Given the description of an element on the screen output the (x, y) to click on. 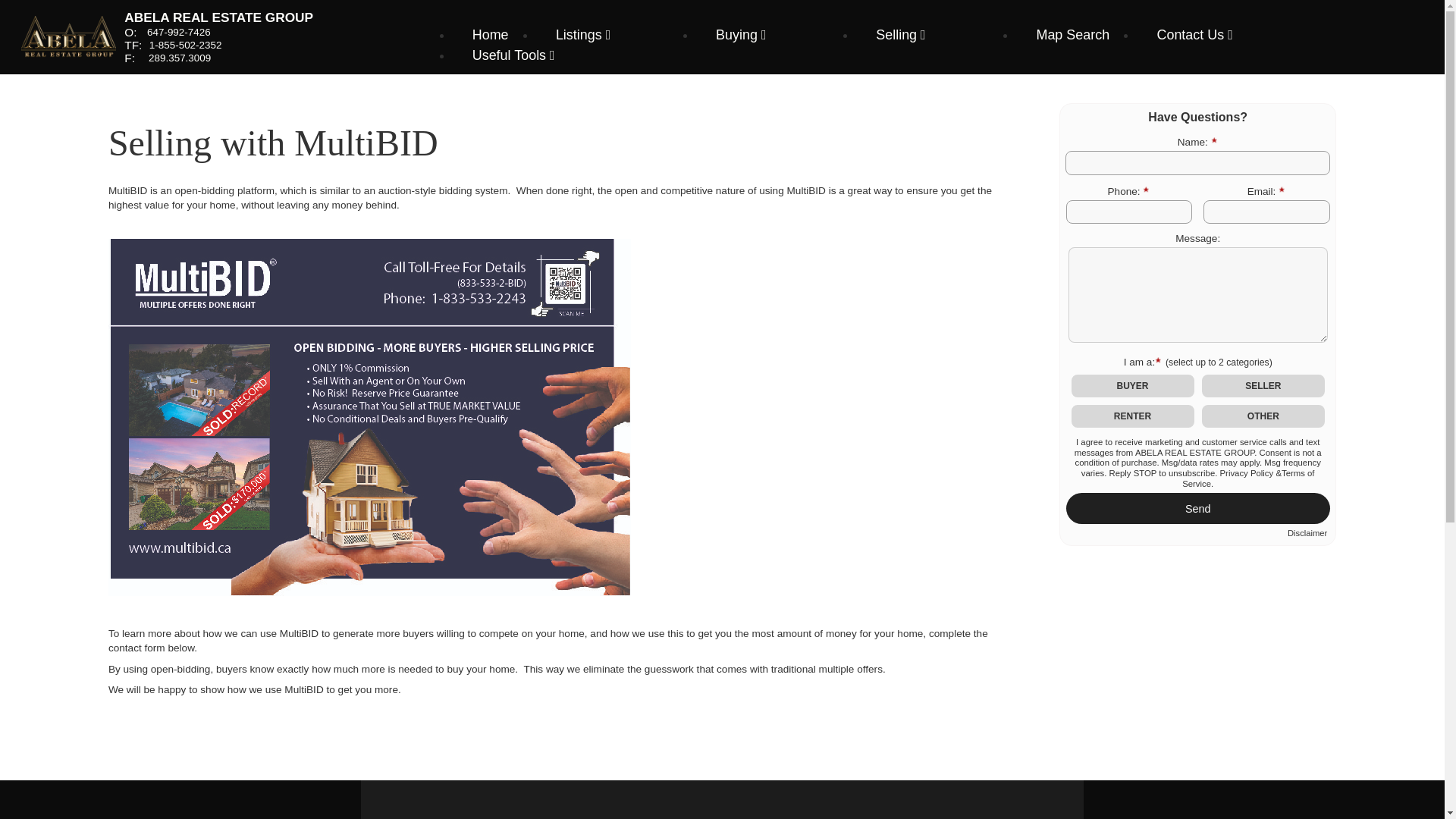
Selling (900, 34)
Useful Tools (513, 55)
Buying (740, 34)
Terms of Service (1248, 478)
Home (490, 34)
Listings (583, 34)
1-855-502-2352 (185, 44)
Home (490, 34)
Privacy Policy (1244, 472)
647-992-7426 (179, 31)
Listings (583, 34)
Selling (900, 34)
Send (1197, 508)
Contact Us (1194, 34)
Map Search (1073, 34)
